Given the description of an element on the screen output the (x, y) to click on. 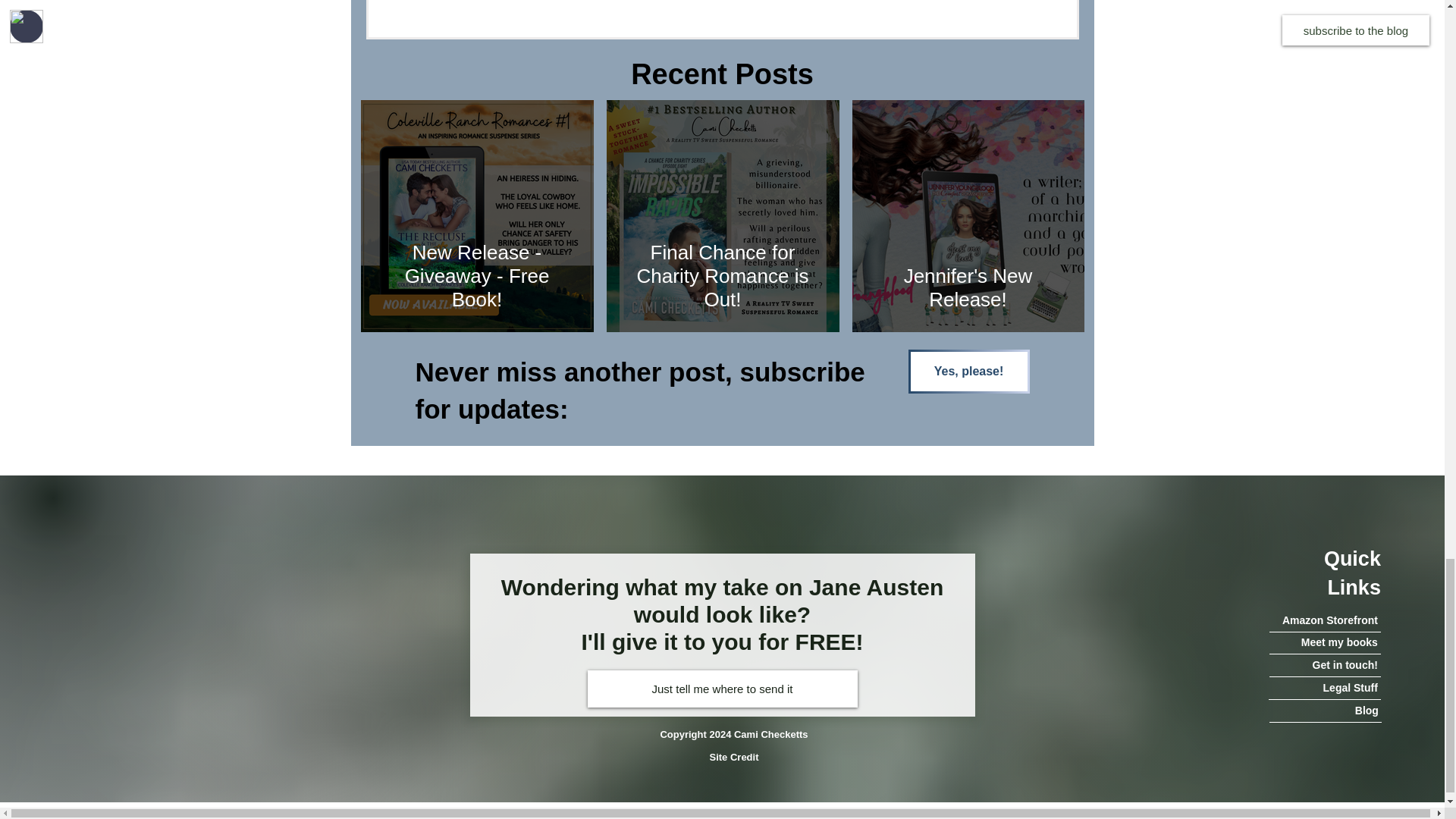
Site Credit (733, 756)
New Release - Giveaway - Free Book! (477, 276)
Yes, please! (968, 371)
Just tell me where to send it (721, 688)
Amazon Storefront (1324, 620)
Final Chance for Charity Romance is Out! (722, 276)
Jennifer's New Release! (968, 287)
